Given the description of an element on the screen output the (x, y) to click on. 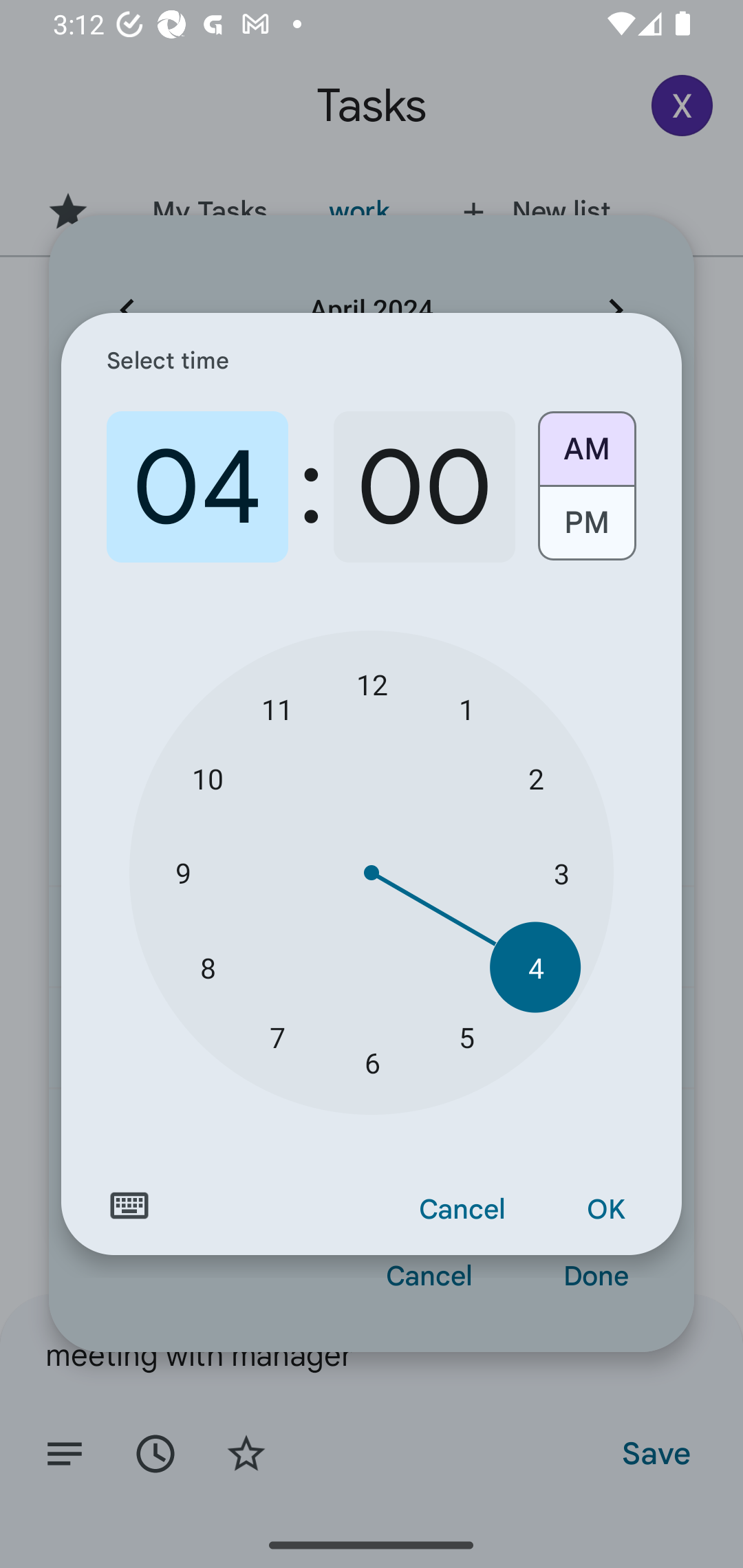
AM (586, 441)
04 4 o'clock (197, 486)
00 0 minutes (424, 486)
PM (586, 529)
12 12 o'clock (371, 683)
11 11 o'clock (276, 708)
1 1 o'clock (466, 708)
10 10 o'clock (207, 778)
2 2 o'clock (535, 778)
9 9 o'clock (182, 872)
3 3 o'clock (561, 872)
8 8 o'clock (207, 966)
4 4 o'clock (535, 966)
7 7 o'clock (276, 1035)
5 5 o'clock (466, 1035)
6 6 o'clock (371, 1062)
Switch to text input mode for the time input. (128, 1205)
Cancel (462, 1209)
OK (605, 1209)
